Given the description of an element on the screen output the (x, y) to click on. 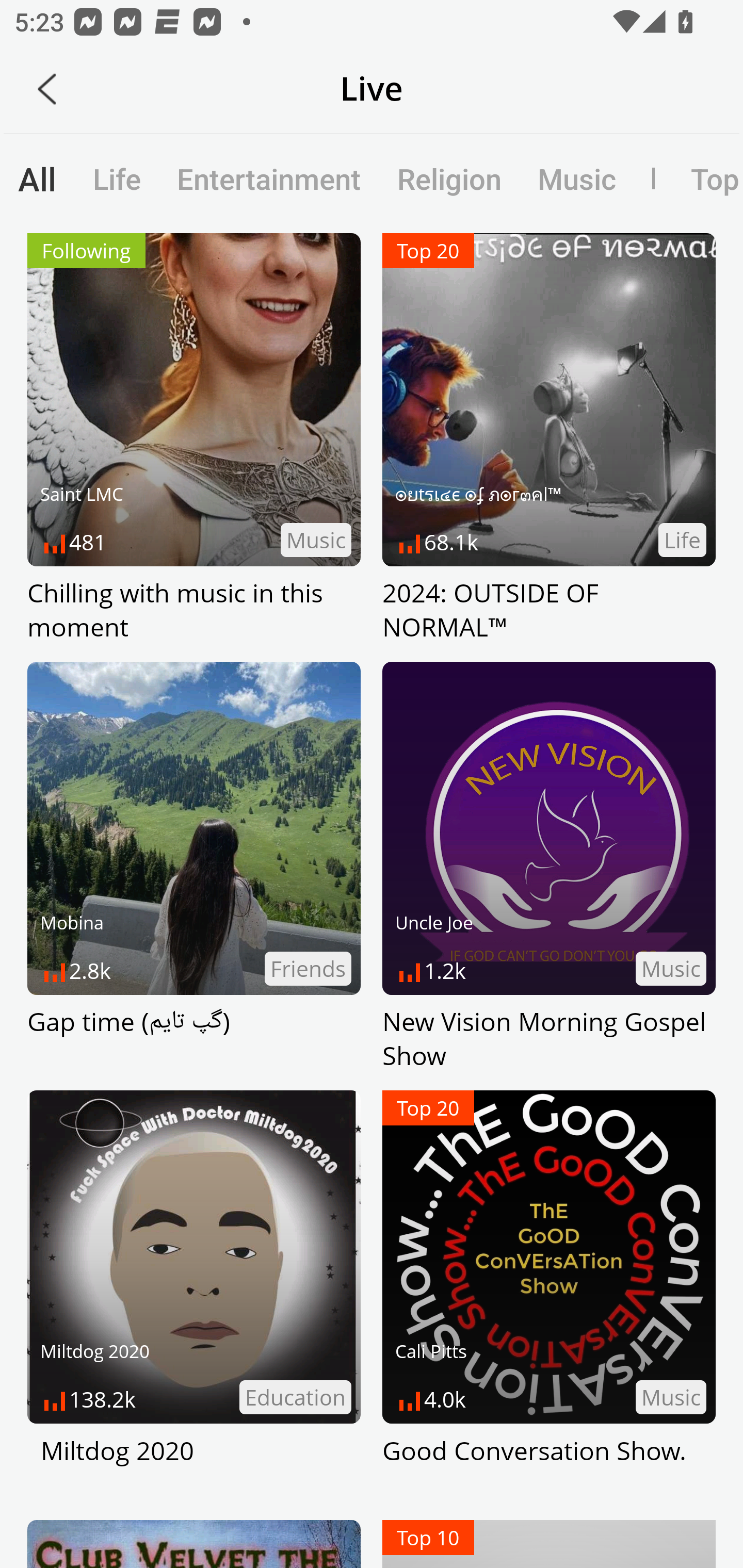
Back (46, 88)
Life (116, 178)
Entertainment (268, 178)
Religion (448, 178)
Music (576, 178)
Mobina 2.8k Friends Gap time (گپ تایم) (193, 866)
Miltdog 2020 138.2k Education   Miltdog 2020  (193, 1295)
